Given the description of an element on the screen output the (x, y) to click on. 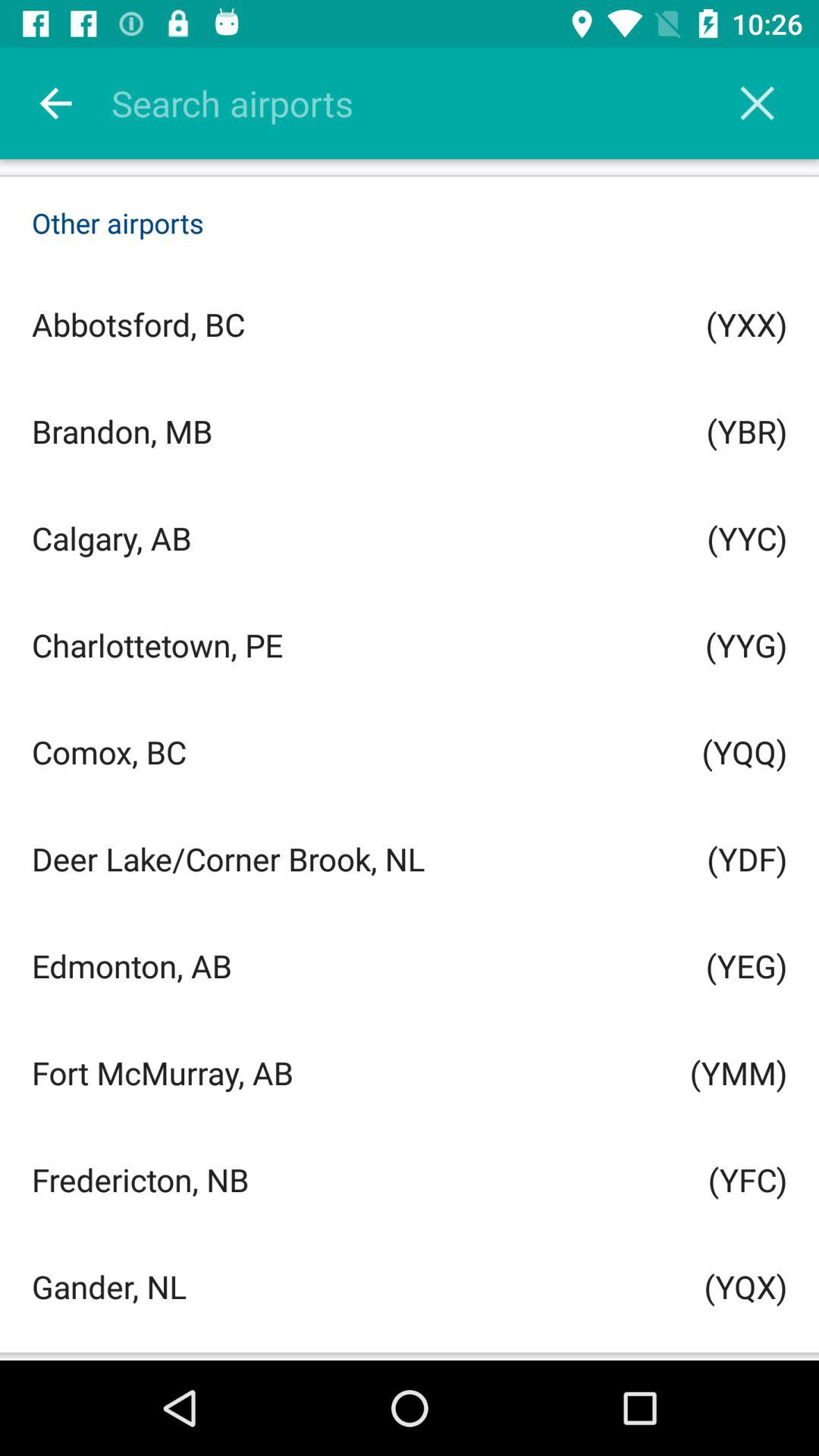
turn off the icon above other airports icon (757, 103)
